Given the description of an element on the screen output the (x, y) to click on. 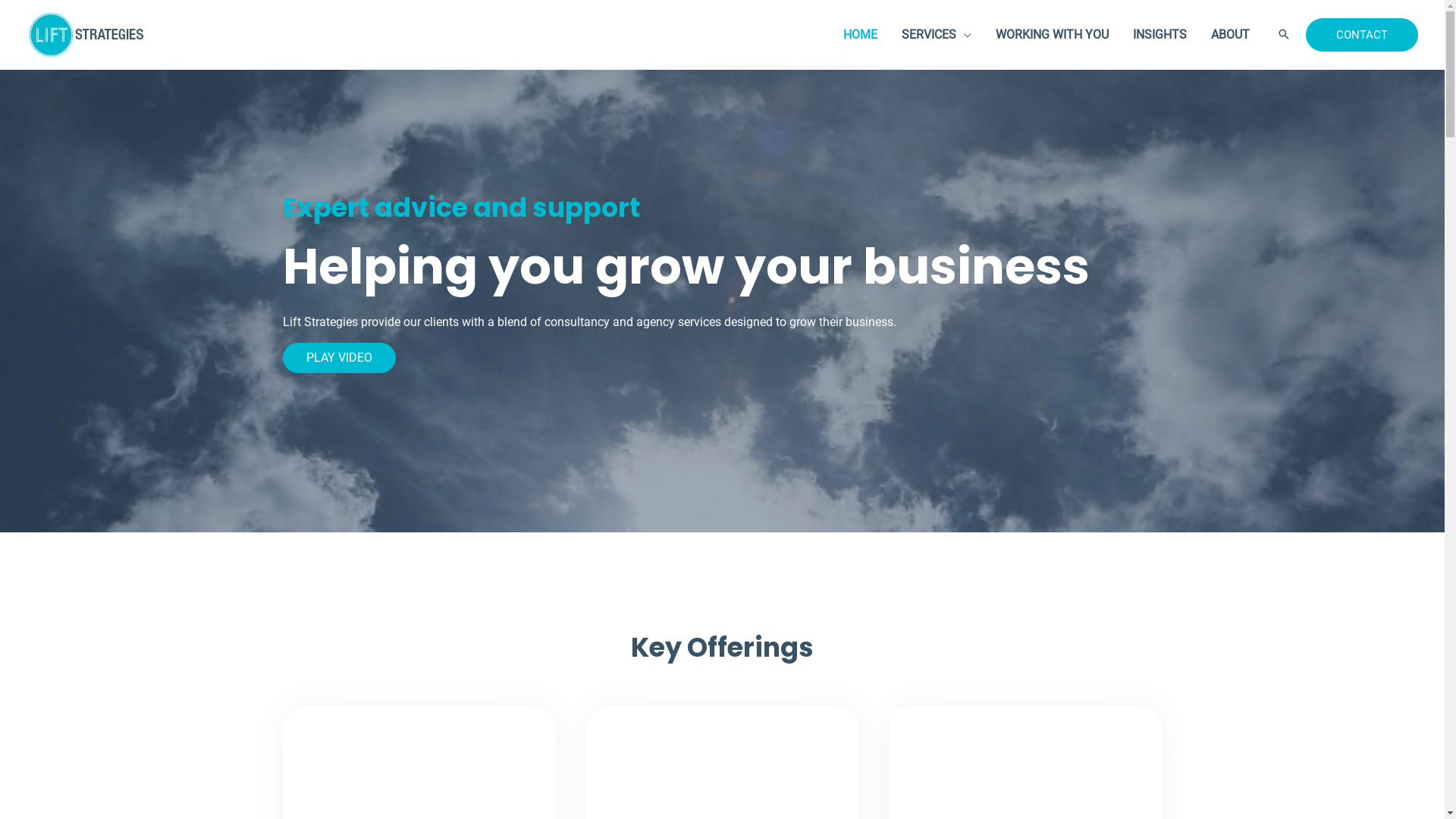
HOME Element type: text (860, 34)
CONTACT Element type: text (1361, 34)
ABOUT Element type: text (1229, 34)
PLAY VIDEO Element type: text (338, 357)
INSIGHTS Element type: text (1159, 34)
WORKING WITH YOU Element type: text (1051, 34)
SERVICES Element type: text (936, 34)
